Given the description of an element on the screen output the (x, y) to click on. 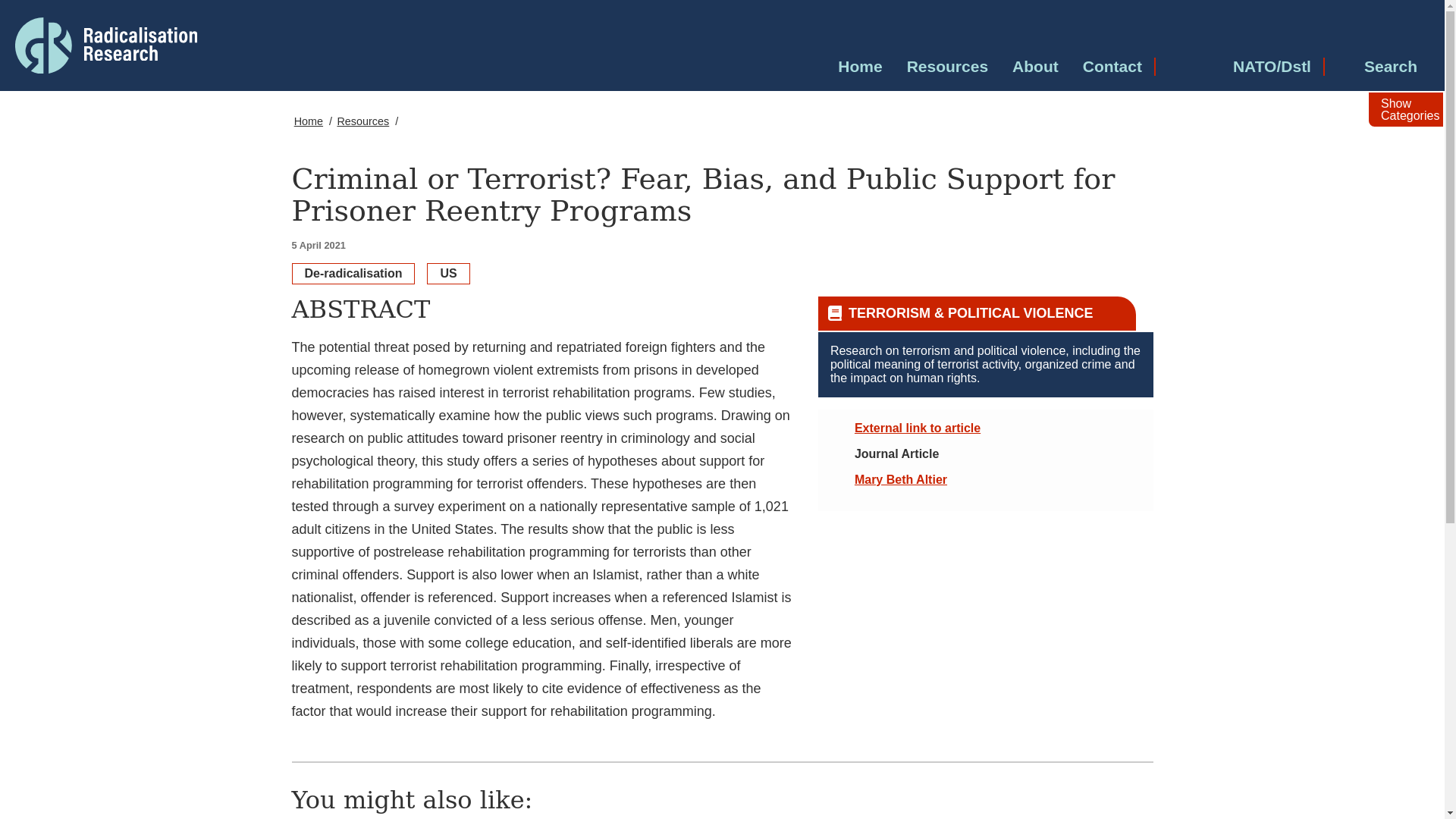
Radicalisation Research (141, 44)
Search (1376, 66)
Resources (947, 66)
Contact (1112, 66)
Home (860, 66)
About (1034, 66)
Radicalisation Research (105, 45)
